Given the description of an element on the screen output the (x, y) to click on. 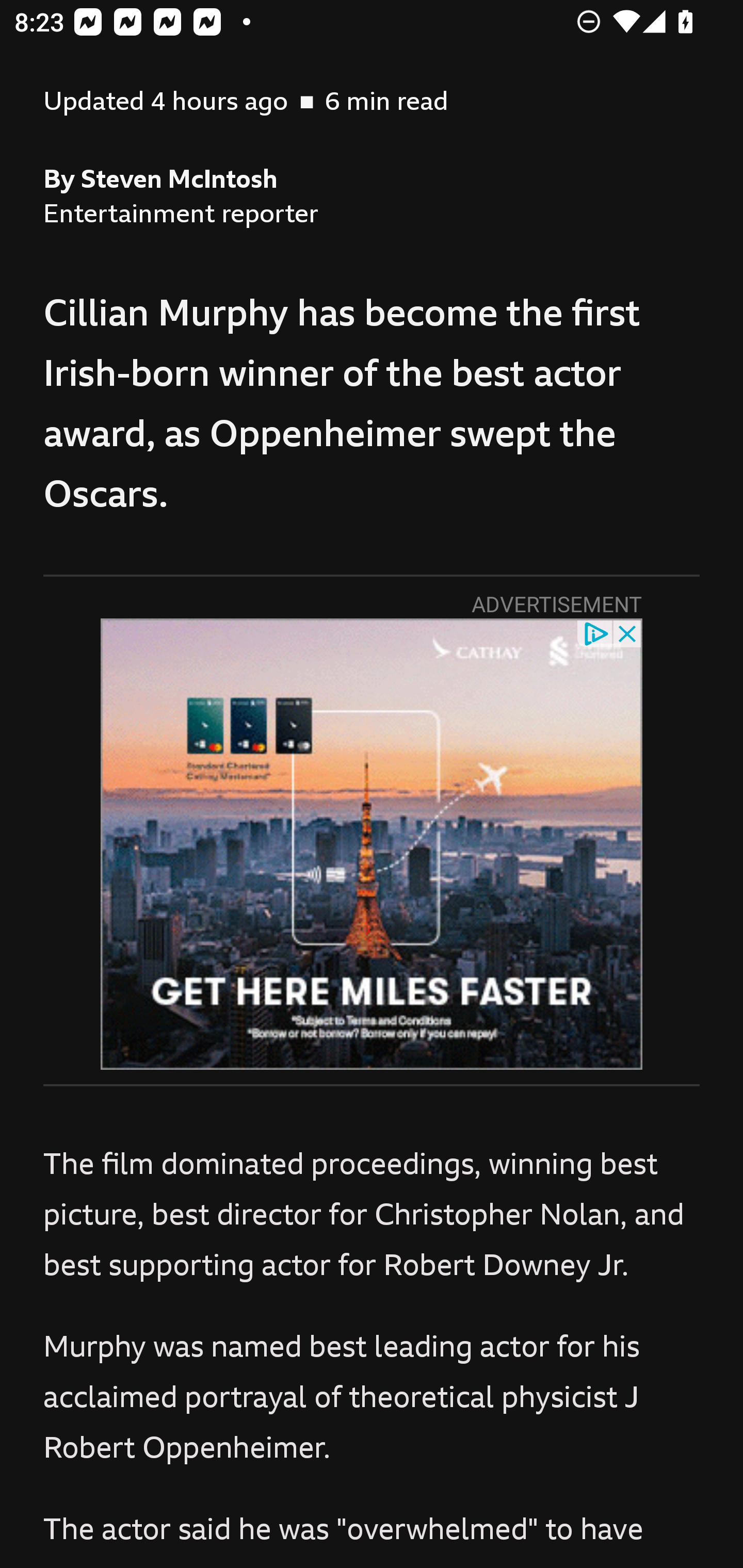
privacy_small (595, 632)
close_button (627, 632)
